Given the description of an element on the screen output the (x, y) to click on. 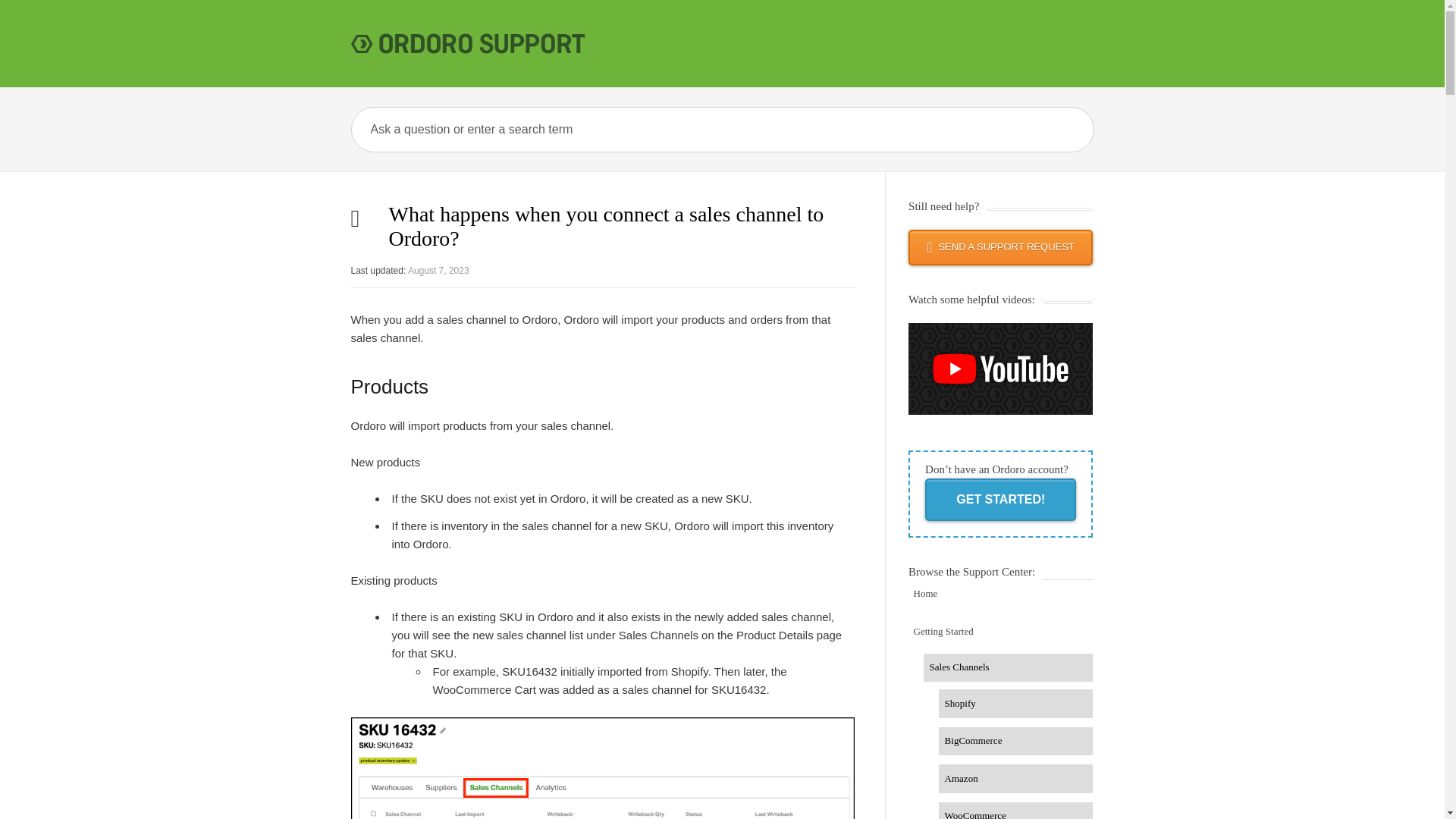
Ask a question or enter a search term (648, 129)
Amazon (1016, 778)
Sales Channels (1008, 667)
Ordoro Support (471, 43)
Getting Started (1000, 631)
SEND A SUPPORT REQUEST (1000, 247)
Home (1000, 594)
Shopify (1016, 703)
BigCommerce (1016, 741)
WooCommerce (1016, 810)
GET STARTED! (999, 499)
Return Home (1000, 594)
